Given the description of an element on the screen output the (x, y) to click on. 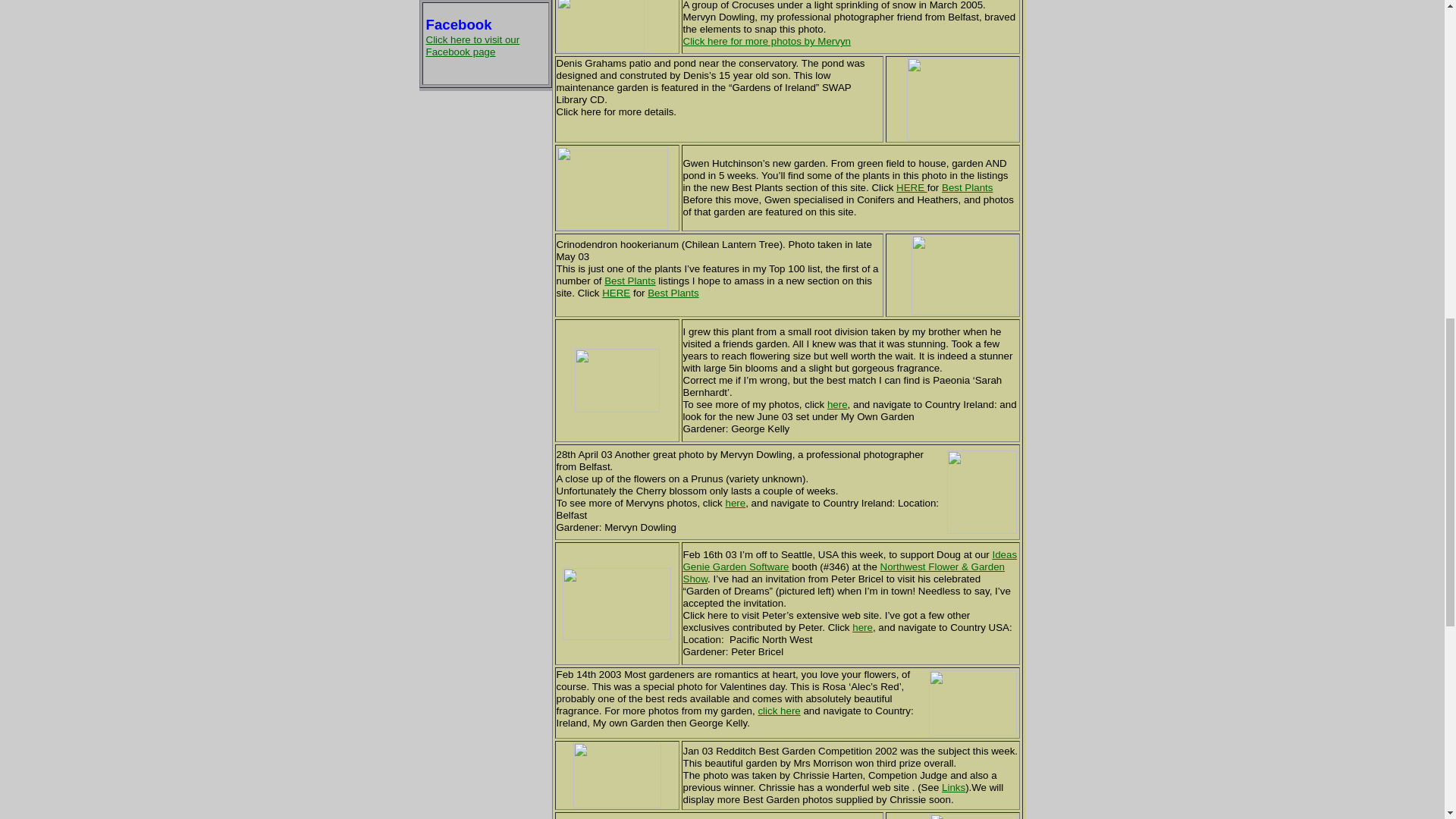
Click here to visit our Facebook page (472, 45)
